Given the description of an element on the screen output the (x, y) to click on. 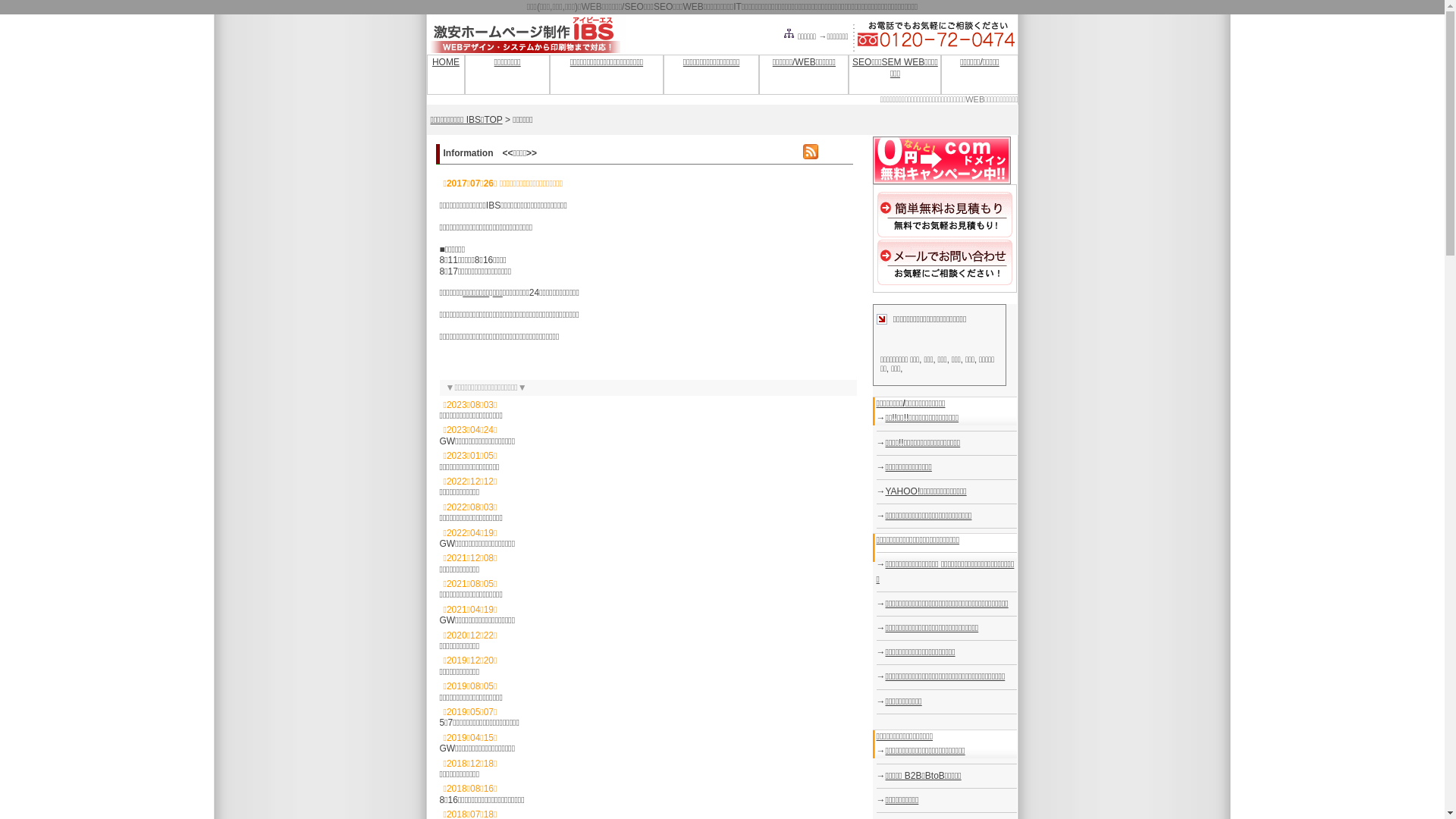
HOME Element type: text (445, 61)
